Given the description of an element on the screen output the (x, y) to click on. 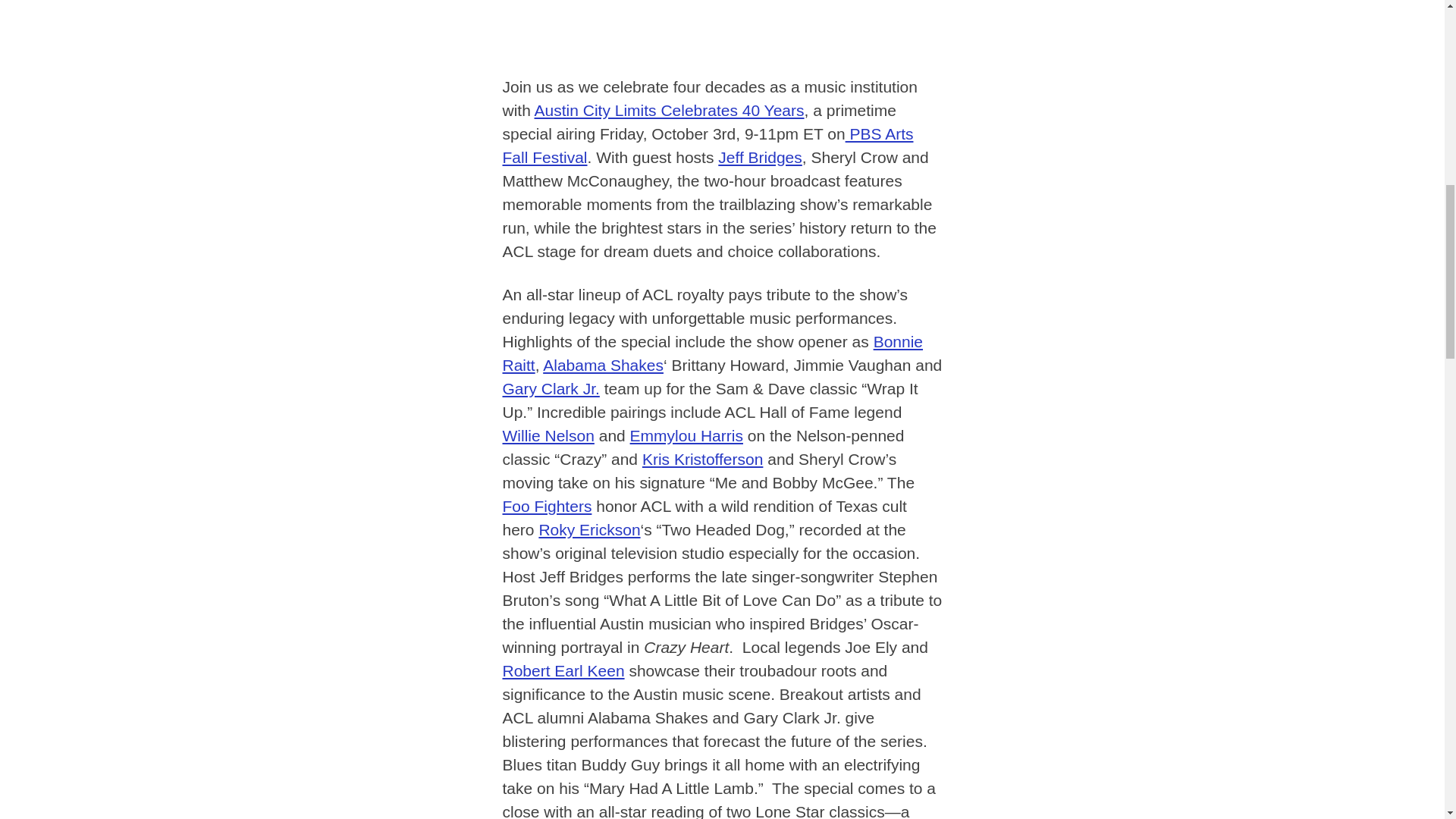
Austin City Limits Celebrates 40 Years (669, 109)
